Given the description of an element on the screen output the (x, y) to click on. 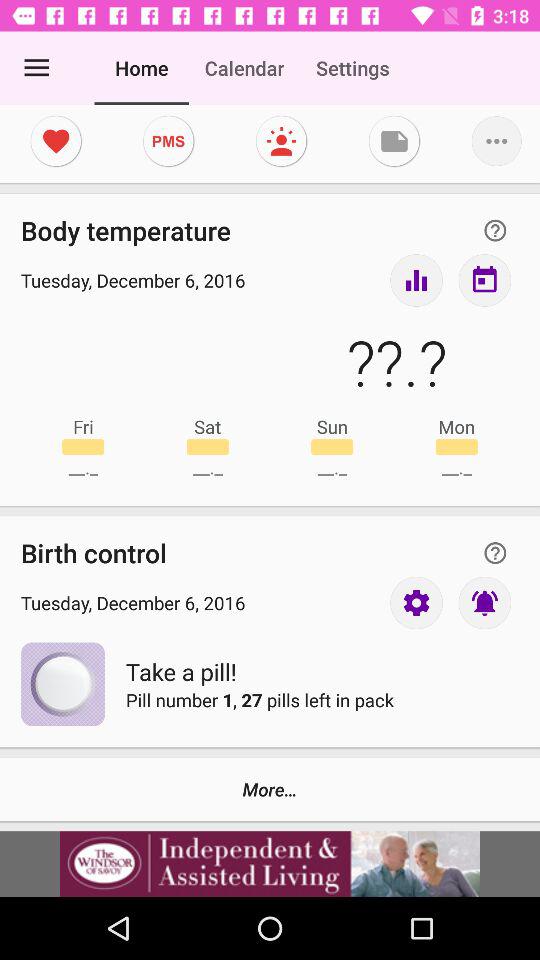
toggle favorite (56, 141)
